Given the description of an element on the screen output the (x, y) to click on. 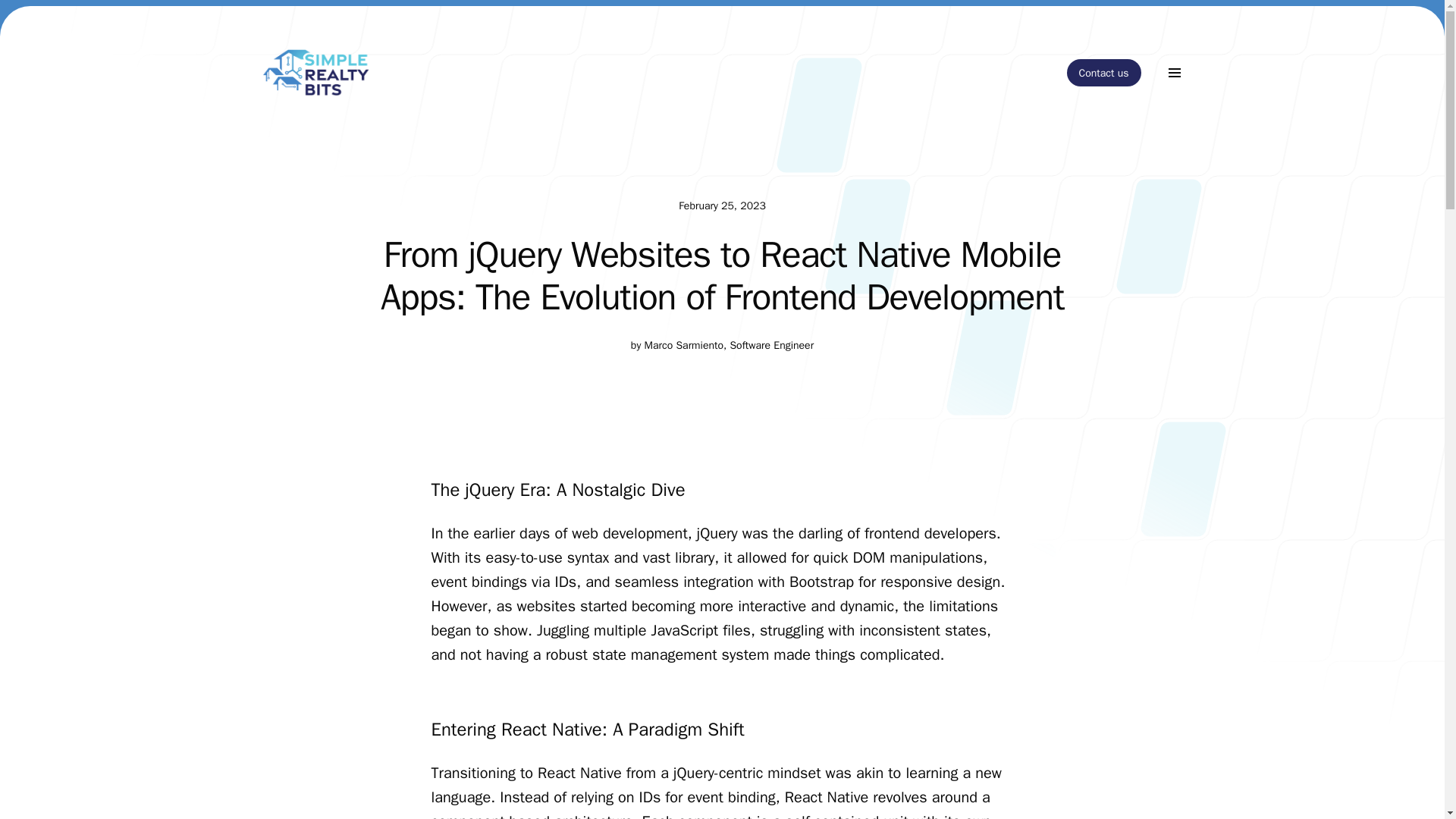
Contact us (1104, 72)
